Given the description of an element on the screen output the (x, y) to click on. 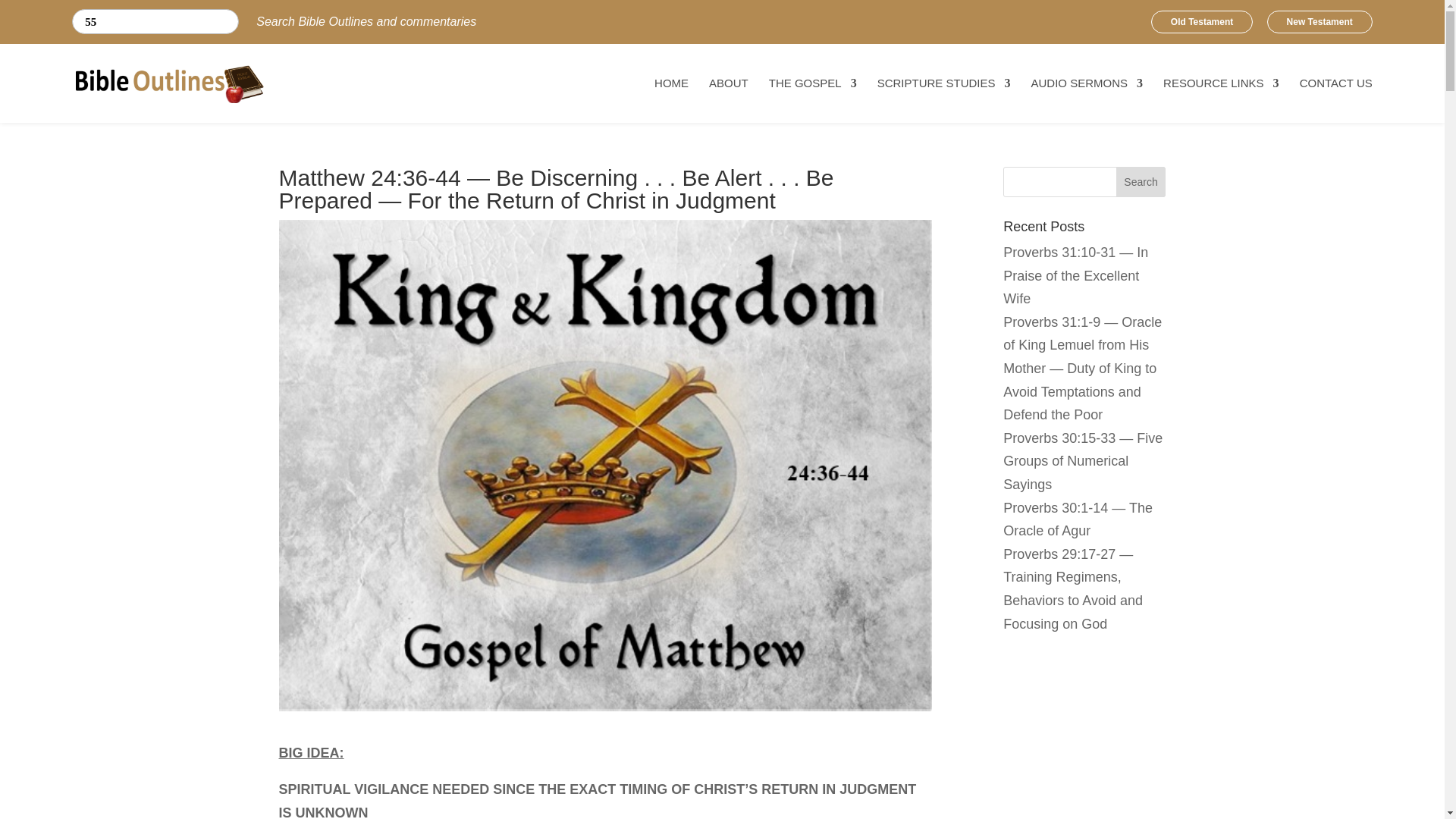
ABOUT (728, 88)
Old Testament (1201, 21)
AUDIO SERMONS (1086, 88)
THE GOSPEL (812, 88)
New Testament (1319, 21)
SCRIPTURE STUDIES (943, 88)
HOME (670, 88)
Search (1141, 182)
Search (86, 22)
Search (86, 22)
